Given the description of an element on the screen output the (x, y) to click on. 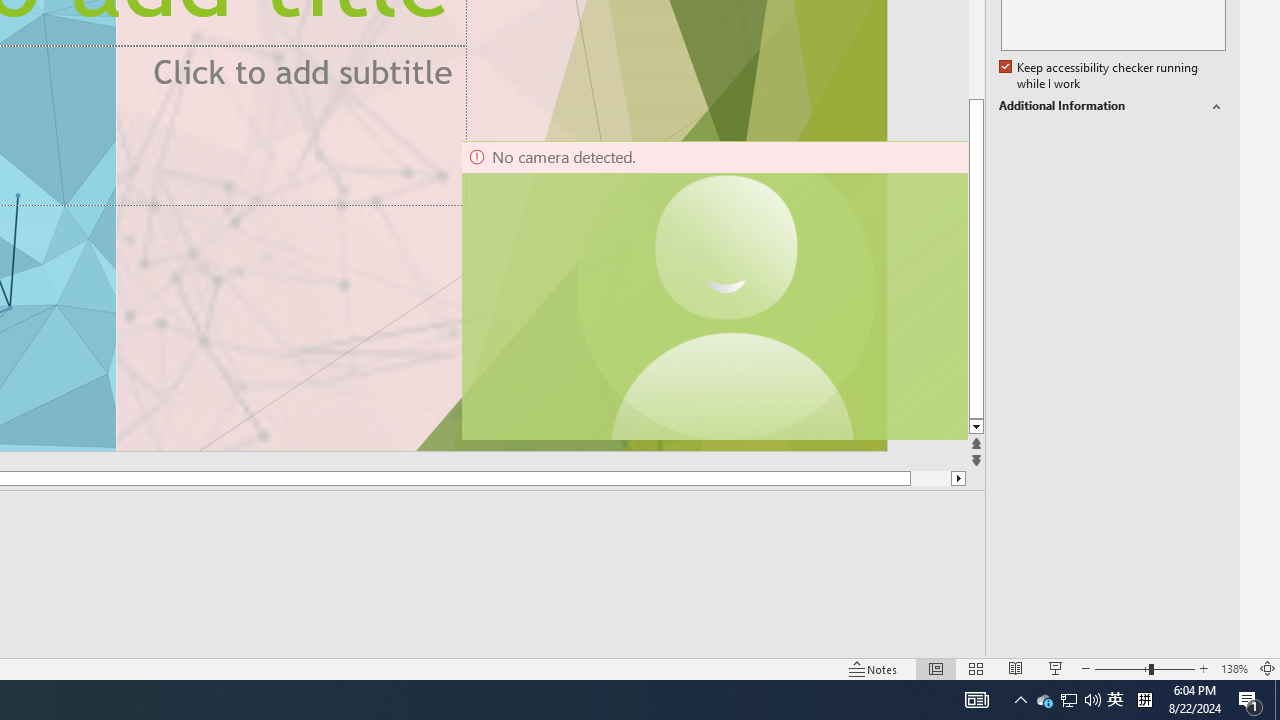
Additional Information (1112, 106)
Keep accessibility checker running while I work (1099, 76)
Zoom 138% (1234, 668)
Camera 11, No camera detected. (727, 290)
Camera 14, No camera detected. (713, 290)
